Given the description of an element on the screen output the (x, y) to click on. 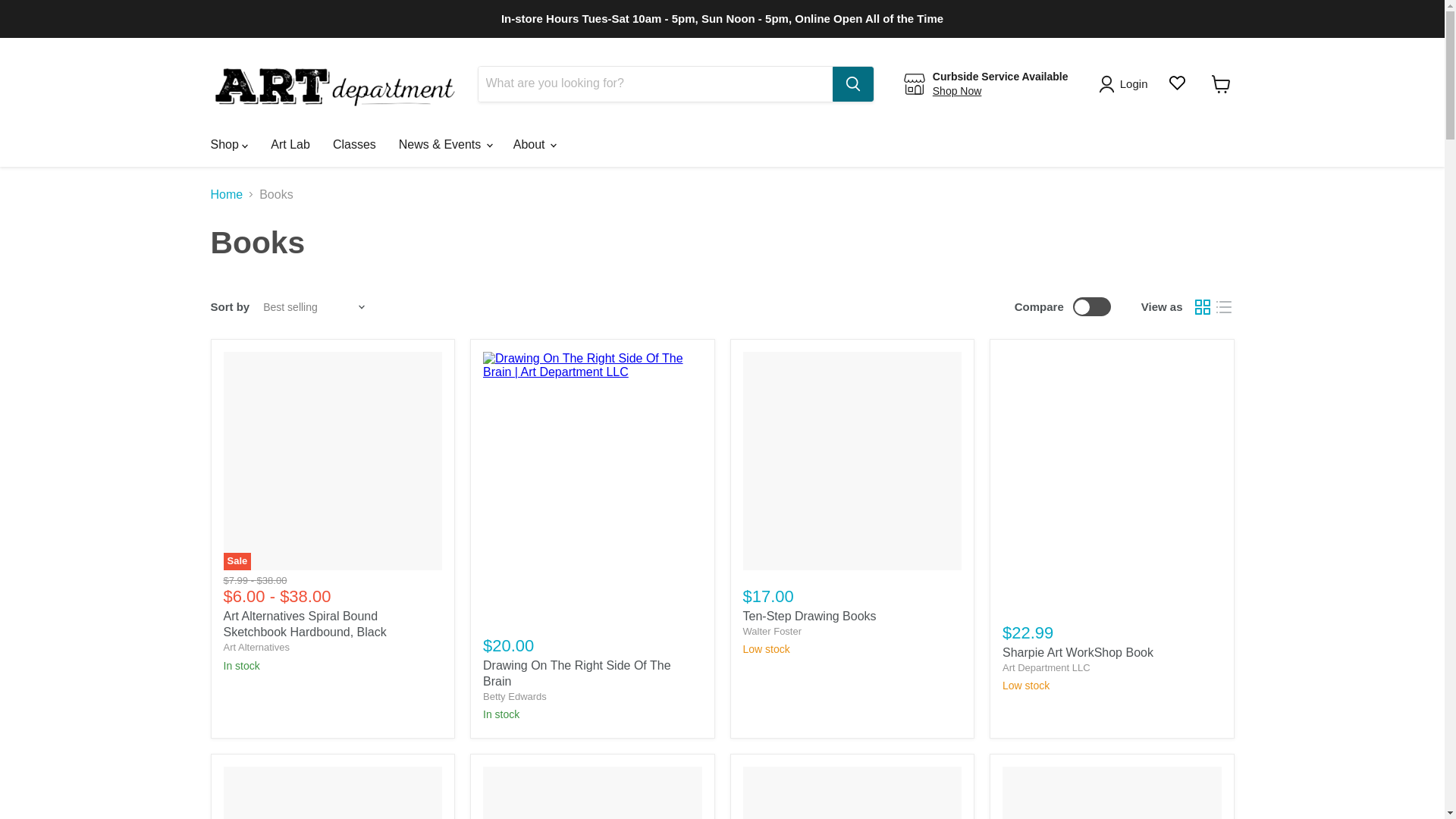
Betty Edwards (515, 696)
Art Department LLC (1046, 667)
Walter Foster (772, 631)
Login (1125, 84)
Shop Now (957, 91)
View cart (1221, 82)
Art Alternatives (255, 646)
